Given the description of an element on the screen output the (x, y) to click on. 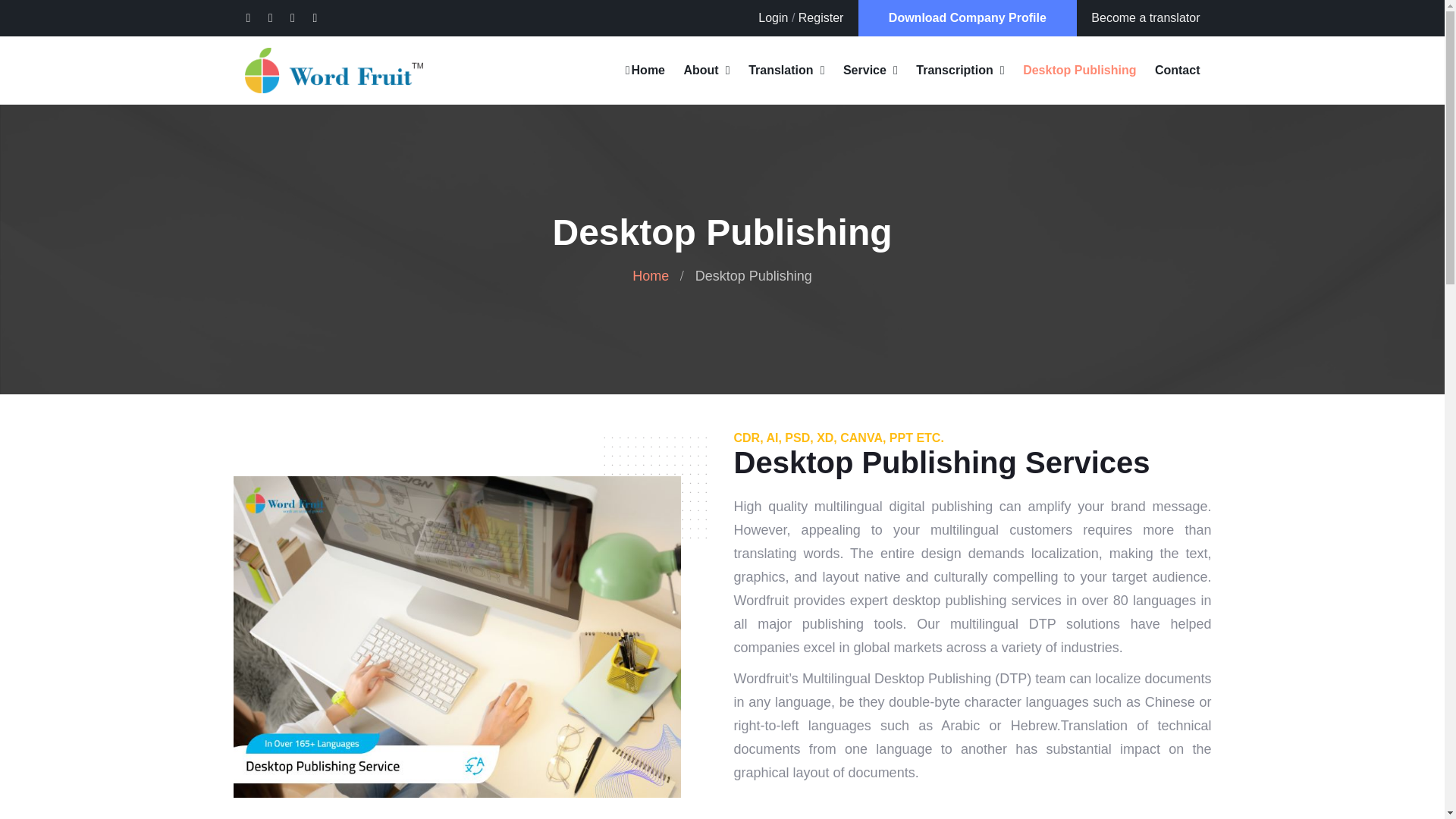
Login (772, 17)
Home (644, 69)
About (699, 69)
Service (864, 69)
Transcription (953, 69)
Register (820, 17)
Desktop Publishing (1079, 69)
Translation (780, 69)
Download Company Profile (968, 18)
Become a translator (1144, 17)
